Given the description of an element on the screen output the (x, y) to click on. 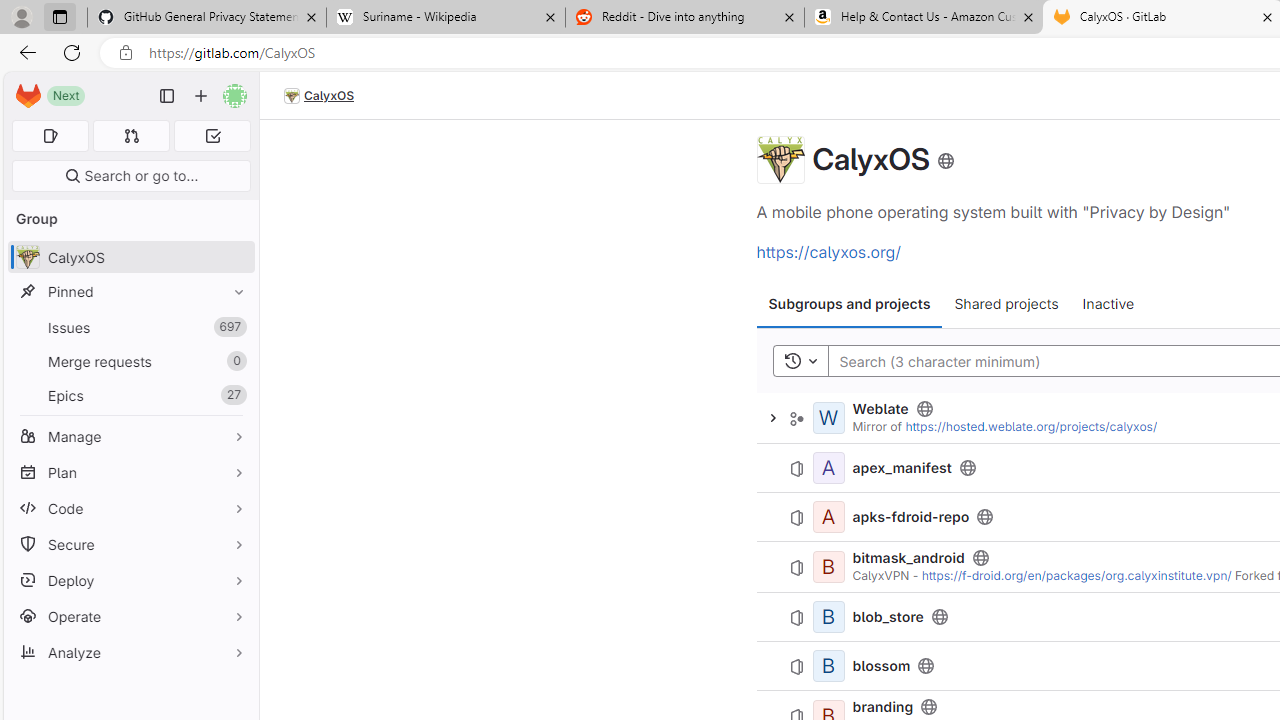
Plan (130, 471)
GitHub General Privacy Statement - GitHub Docs (207, 17)
Code (130, 507)
Toggle history (800, 360)
Unpin Issues (234, 327)
Assigned issues 0 (50, 136)
Operate (130, 615)
Epics27 (130, 394)
Next (66, 96)
Unpin Merge requests (234, 361)
Operate (130, 615)
Weblate (880, 408)
Deploy (130, 579)
